Given the description of an element on the screen output the (x, y) to click on. 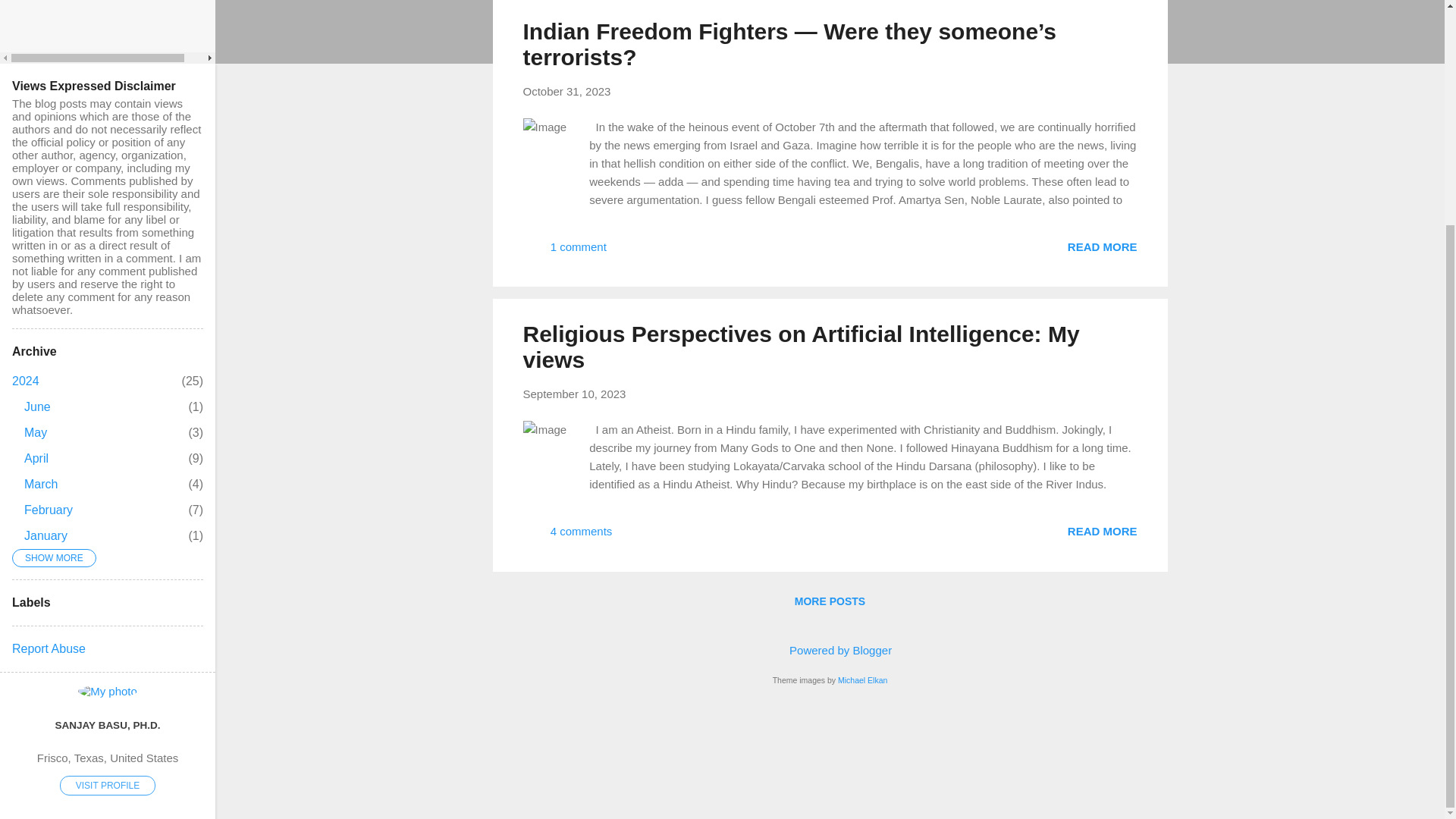
permanent link (574, 393)
4 comments (567, 535)
MORE POSTS (829, 600)
READ MORE (1102, 245)
September 10, 2023 (574, 393)
permanent link (566, 91)
READ MORE (1102, 530)
Religious Perspectives on Artificial Intelligence: My views (41, 483)
1 comment (801, 346)
